Given the description of an element on the screen output the (x, y) to click on. 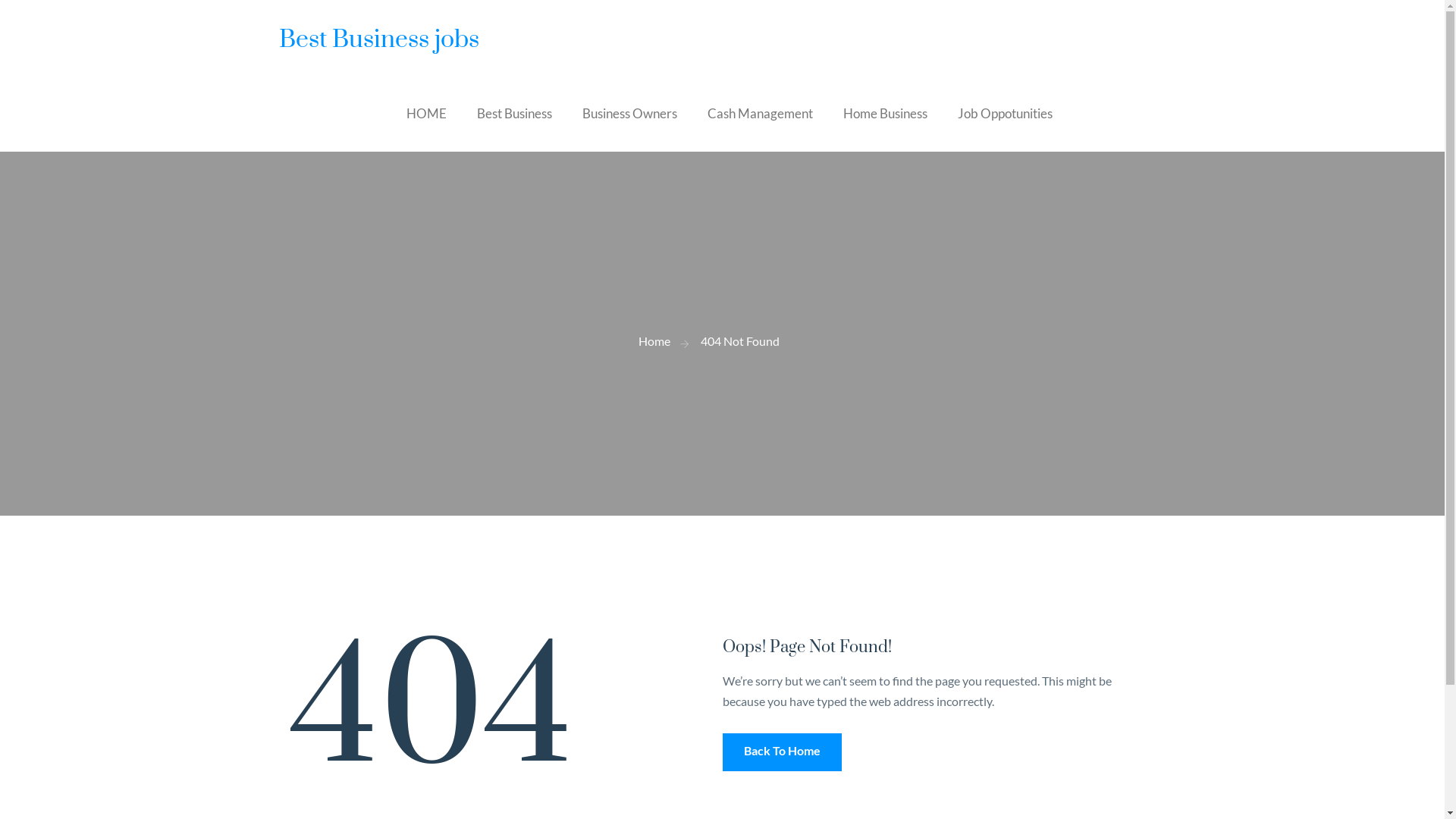
Business Owners Element type: text (629, 113)
Home Element type: text (654, 340)
Back To Home Element type: text (780, 752)
Cash Management Element type: text (759, 113)
HOME Element type: text (426, 113)
Job Oppotunities Element type: text (1003, 113)
Best Business jobs Element type: text (379, 39)
Best Business Element type: text (513, 113)
Home Business Element type: text (885, 113)
